Given the description of an element on the screen output the (x, y) to click on. 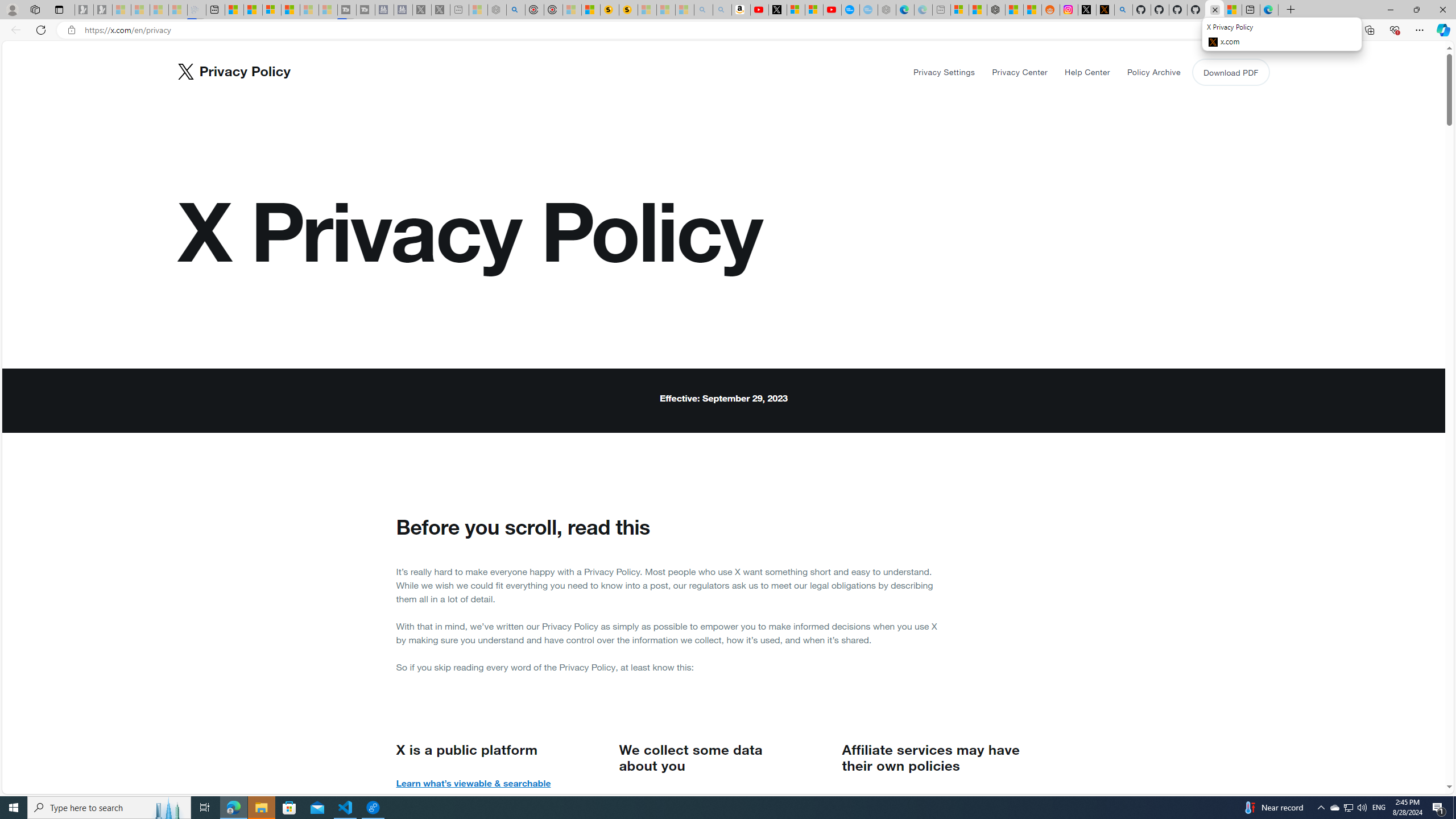
Privacy Settings (943, 71)
